Given the description of an element on the screen output the (x, y) to click on. 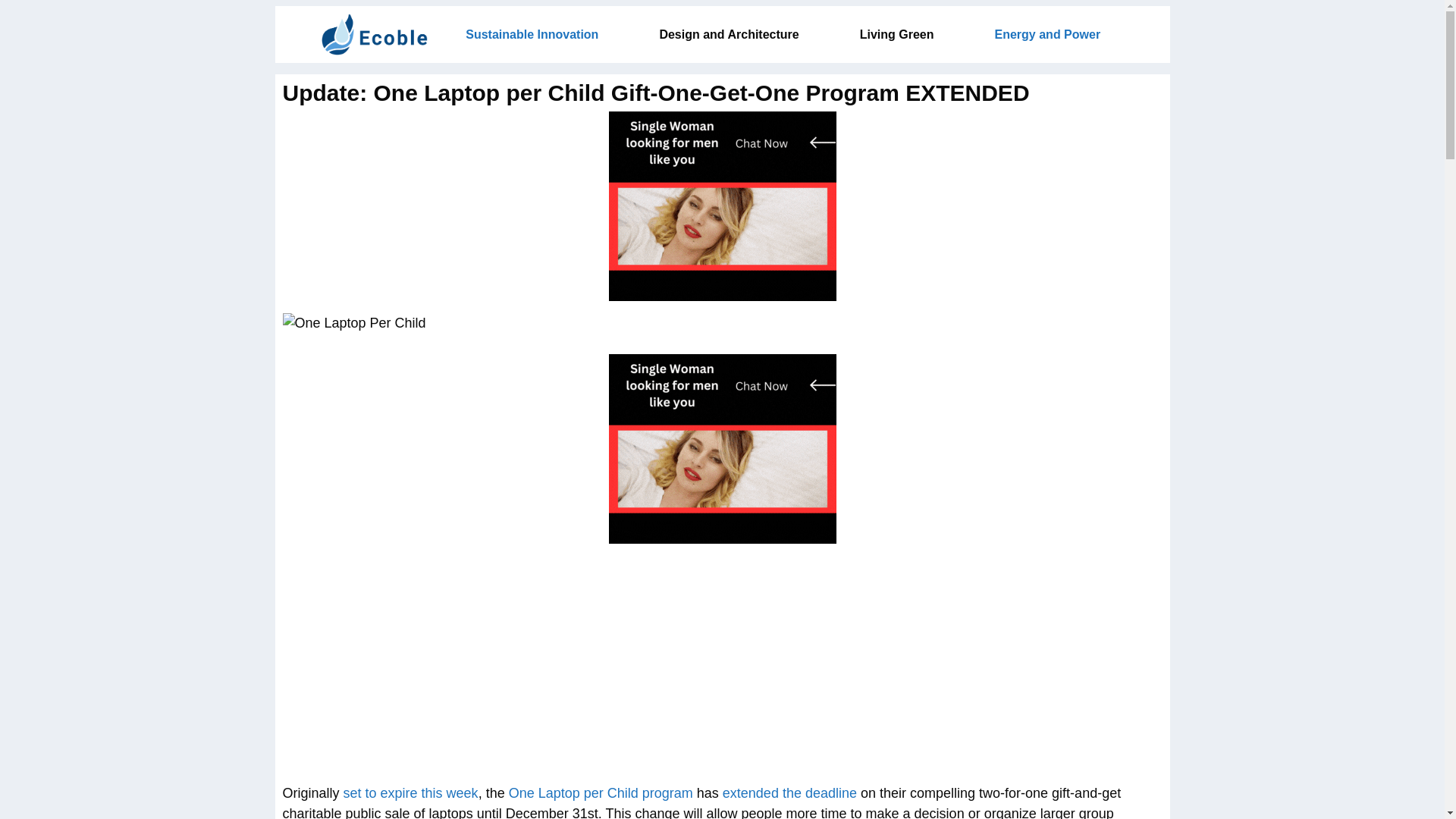
Sustainable Innovation (531, 34)
set to expire this week (411, 792)
One Laptop per Child (600, 792)
One Laptop per Child program (600, 792)
Design and Architecture (728, 34)
extended the deadline (789, 792)
Original Expiration (411, 792)
Ecoble (374, 34)
Deadline Extended (789, 792)
